Given the description of an element on the screen output the (x, y) to click on. 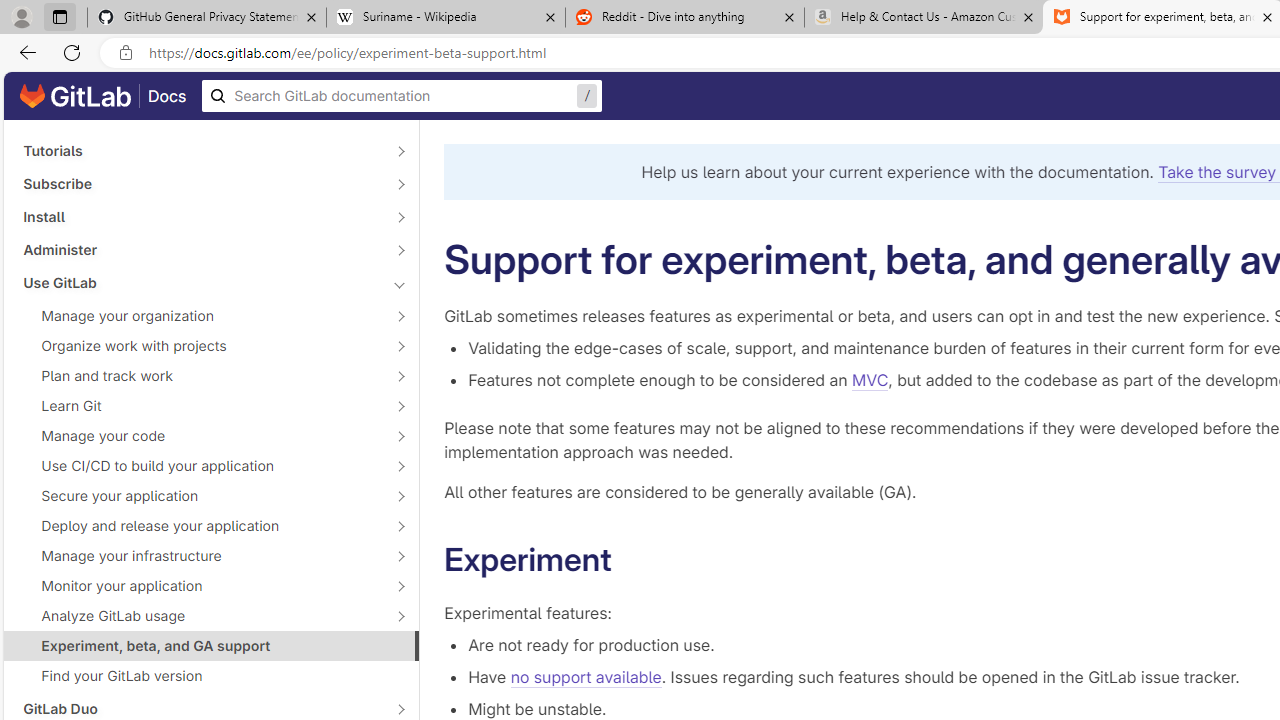
Help & Contact Us - Amazon Customer Service - Sleeping (924, 17)
Manage your infrastructure (199, 555)
/ (402, 95)
Find your GitLab version (211, 675)
Tutorials (199, 151)
no support available (585, 677)
Subscribe (199, 183)
Deploy and release your application (199, 525)
Use GitLab (199, 282)
Analyze GitLab usage (199, 615)
Install (199, 216)
Suriname - Wikipedia (445, 17)
Secure your application (199, 495)
Administer (199, 249)
